Given the description of an element on the screen output the (x, y) to click on. 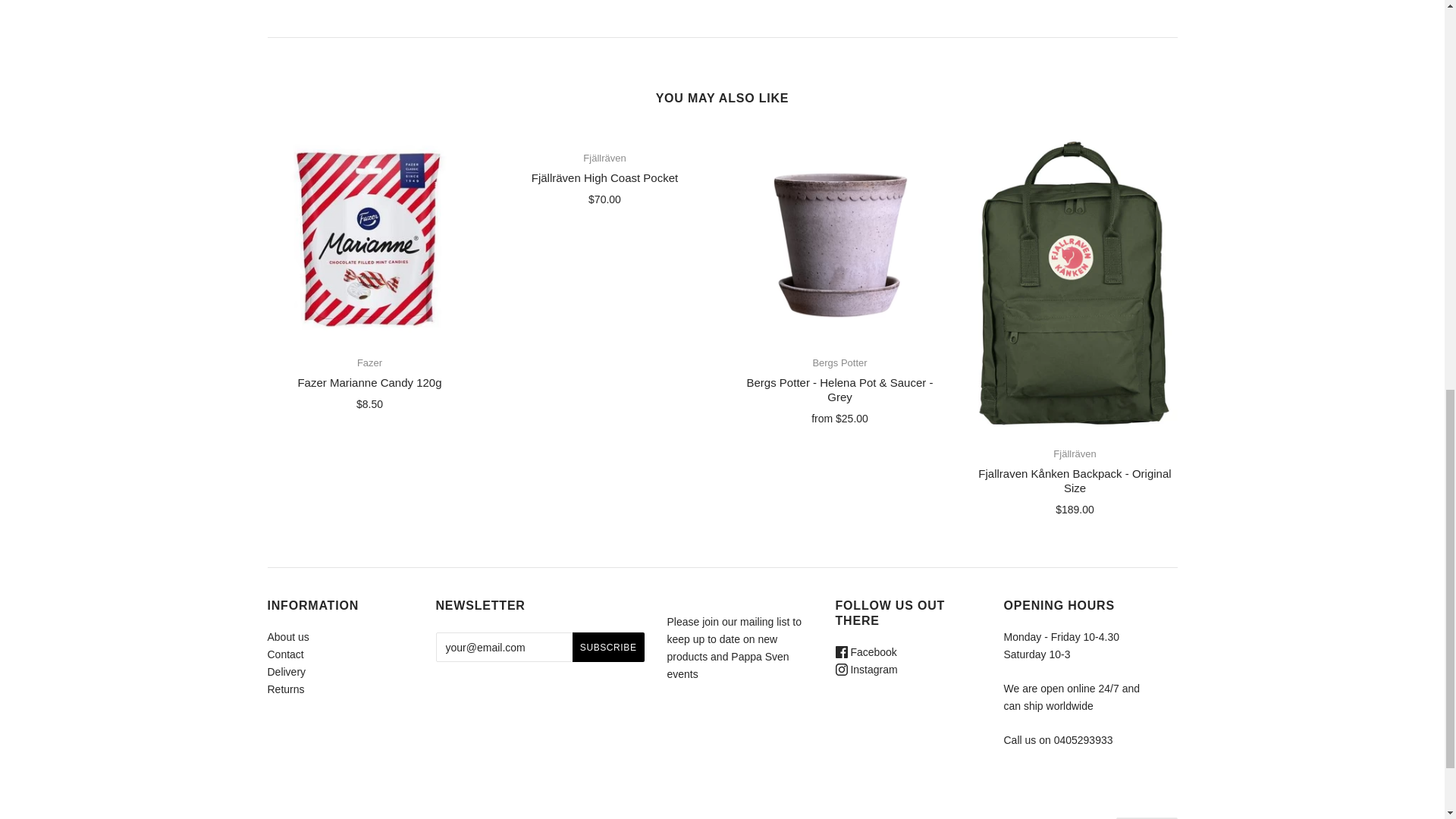
Bergs Potter (839, 362)
Instagram (866, 669)
Fazer (368, 362)
Subscribe (608, 646)
Facebook (865, 652)
